Given the description of an element on the screen output the (x, y) to click on. 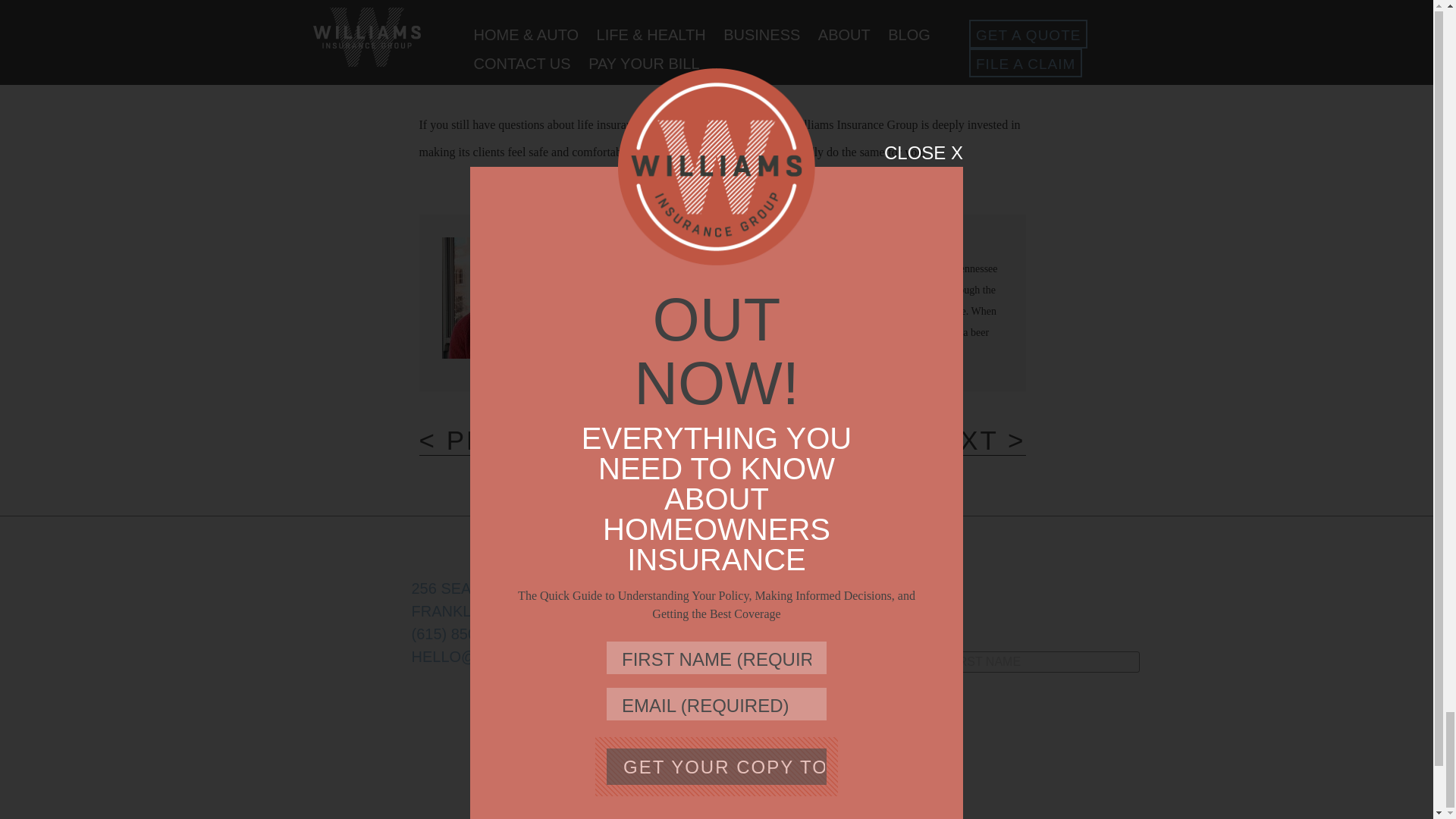
Subscribe (783, 702)
Finely Crafted by Proof (895, 748)
